Given the description of an element on the screen output the (x, y) to click on. 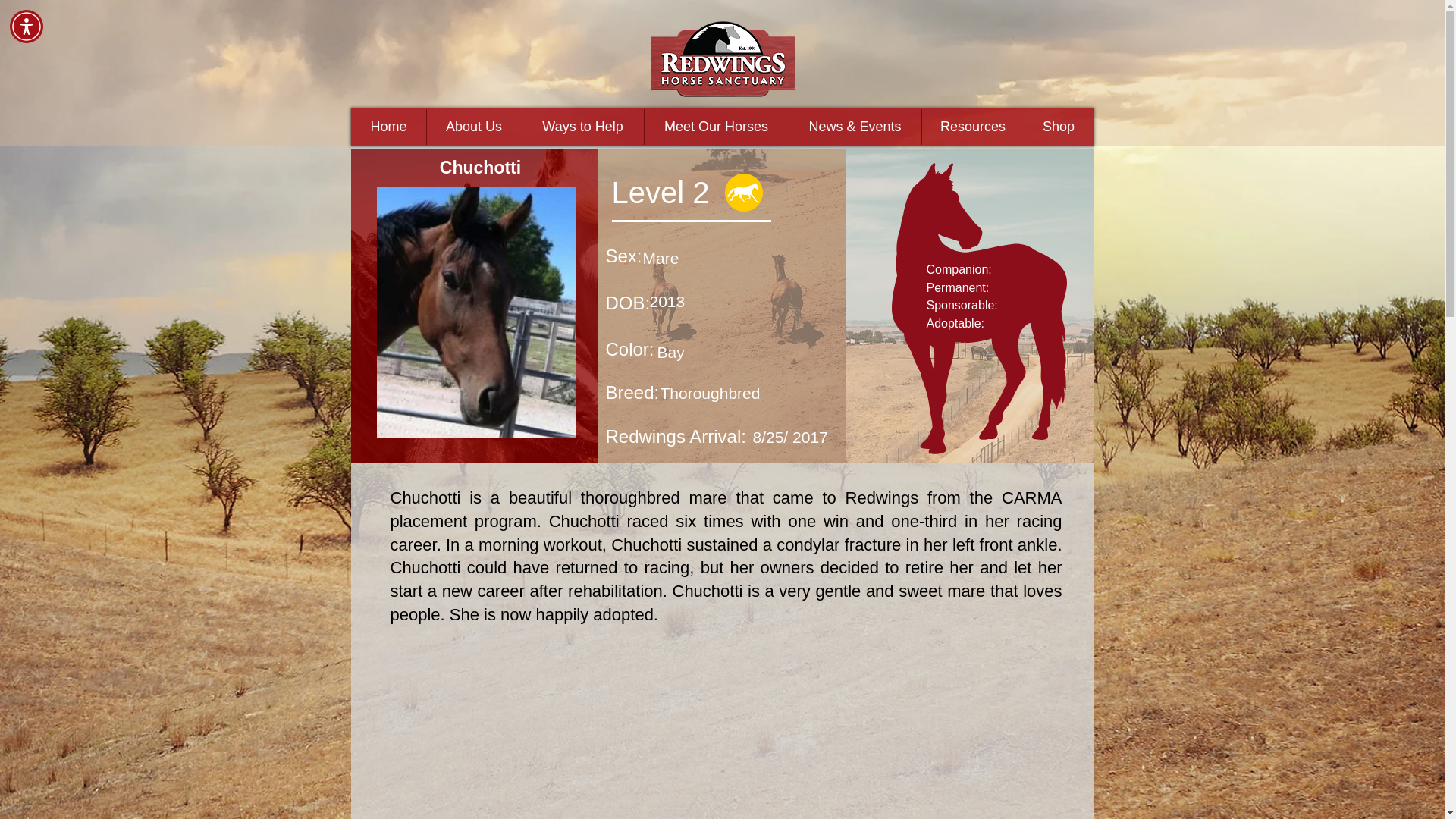
Home (389, 126)
Accessibility Menu (26, 26)
Redwingsnewlogo (721, 59)
level-2.png (742, 192)
